Given the description of an element on the screen output the (x, y) to click on. 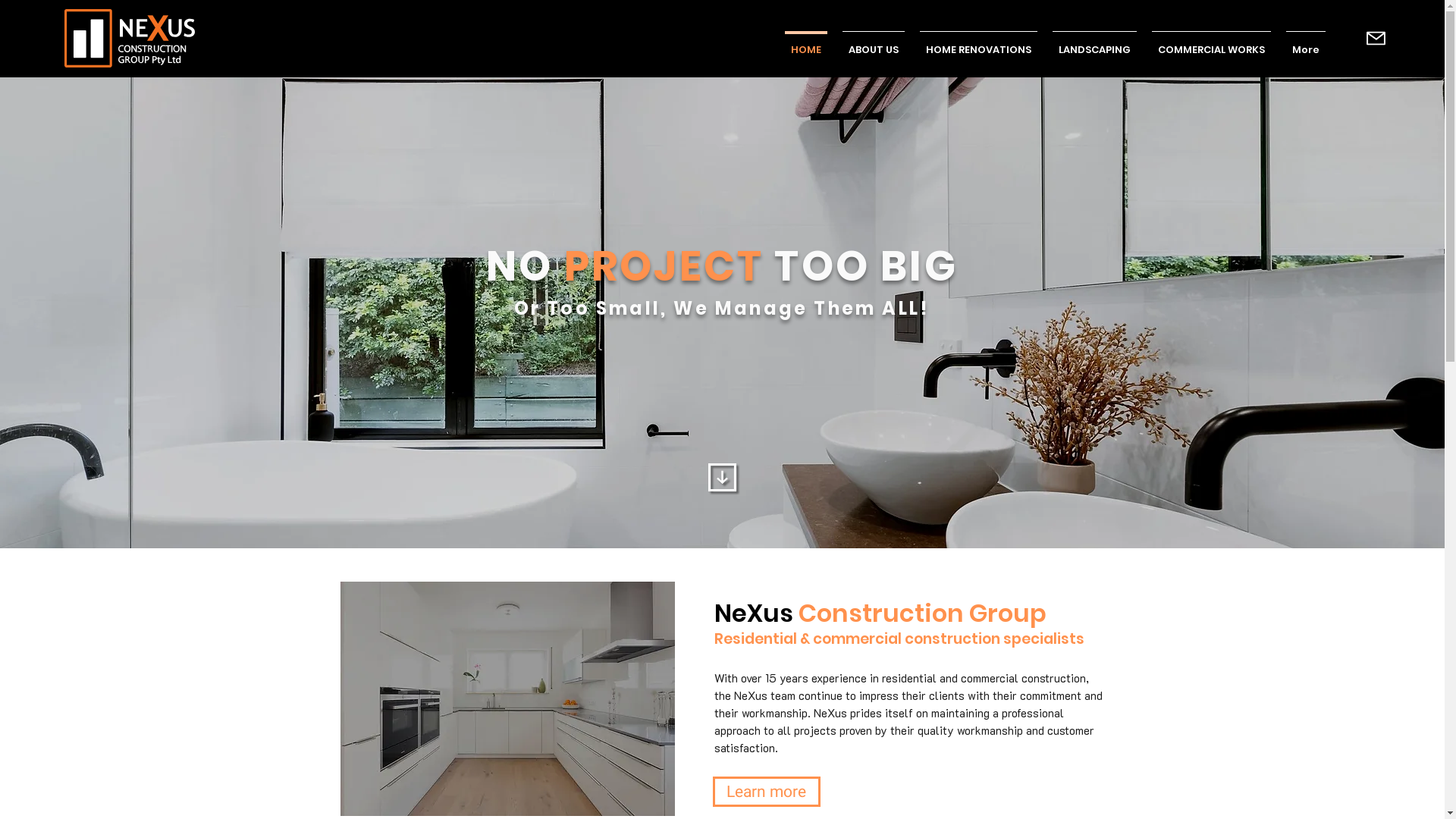
ABOUT US Element type: text (873, 43)
LANDSCAPING Element type: text (1094, 43)
HOME RENOVATIONS Element type: text (978, 43)
HOME Element type: text (805, 43)
COMMERCIAL WORKS Element type: text (1211, 43)
Learn more Element type: text (766, 791)
